Given the description of an element on the screen output the (x, y) to click on. 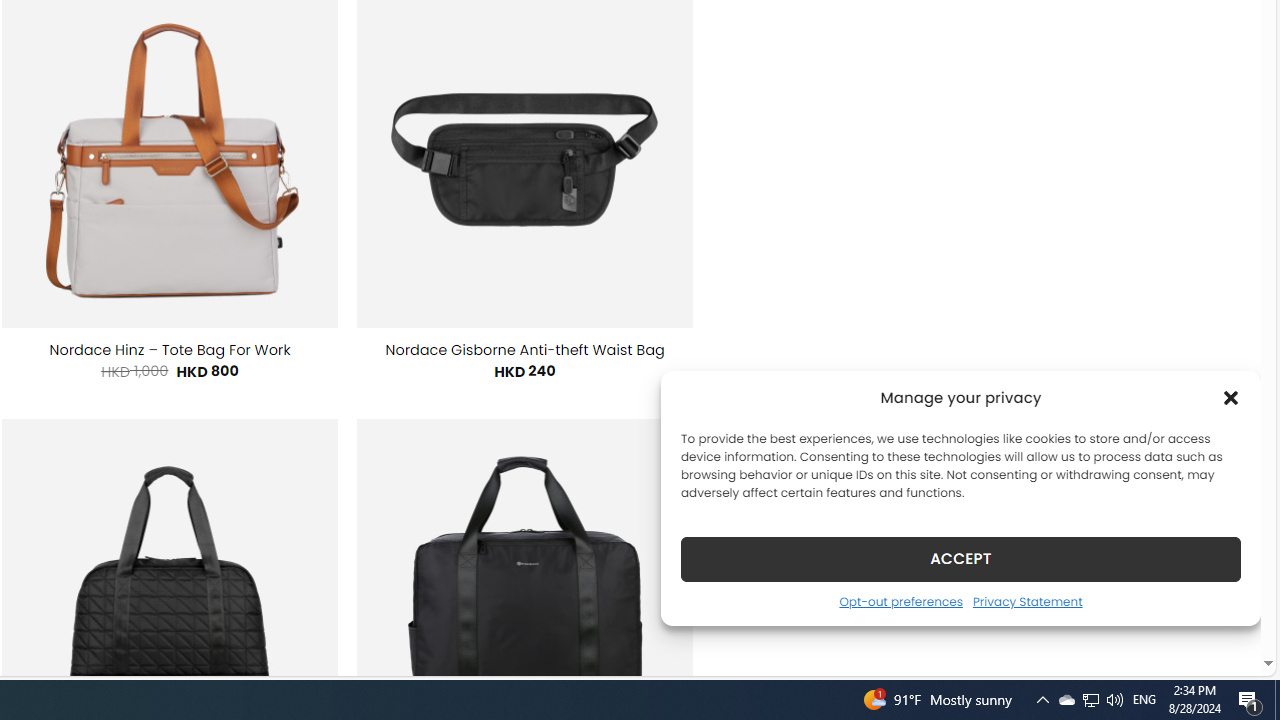
Privacy Statement (1026, 601)
Class: cmplz-close (1231, 397)
ACCEPT (960, 558)
Opt-out preferences (900, 601)
Nordace Gisborne Anti-theft Waist Bag (525, 350)
